Given the description of an element on the screen output the (x, y) to click on. 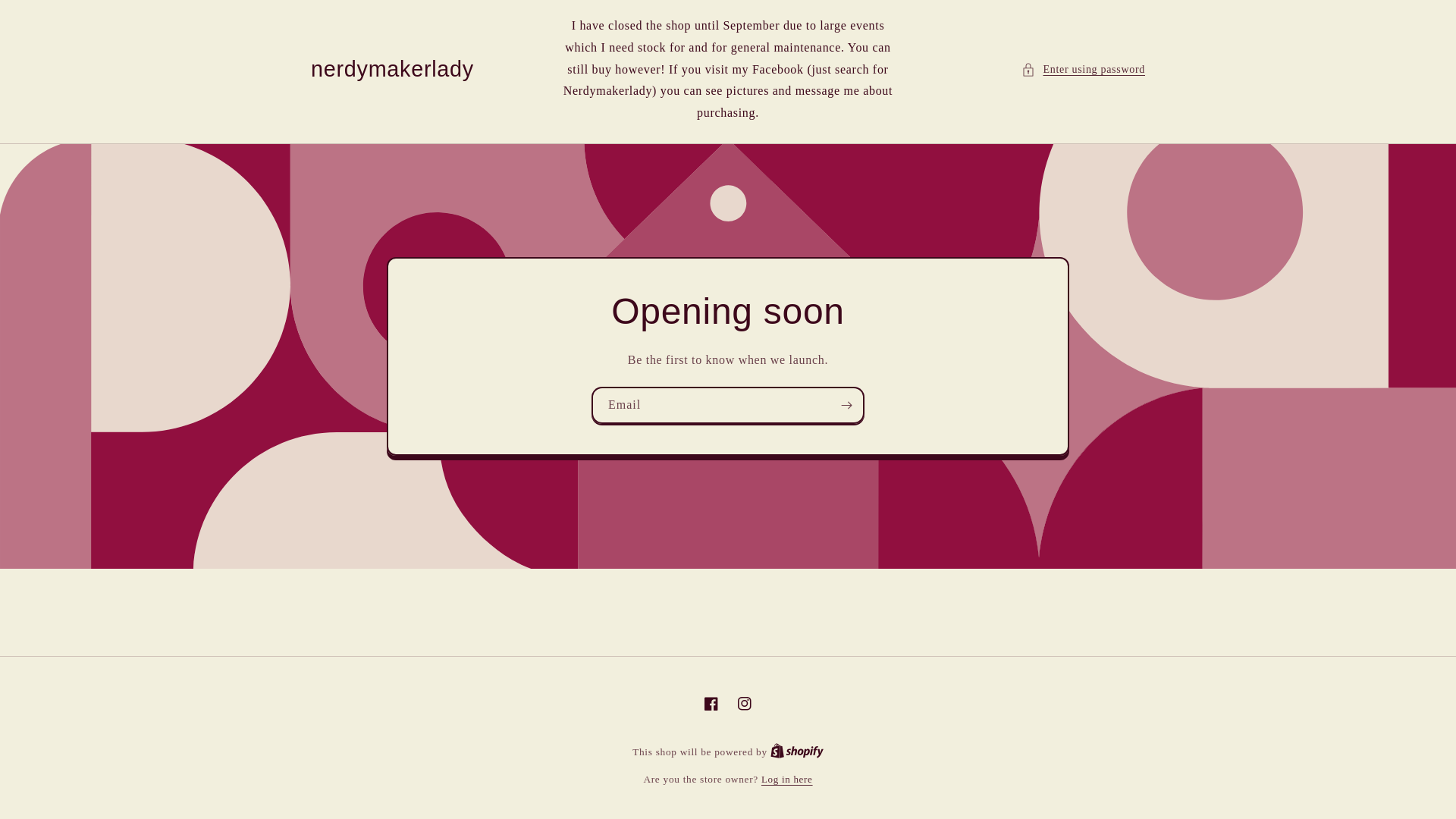
Log in here (797, 751)
Facebook (786, 779)
Create your own online store with Shopify (711, 703)
Skip to content (797, 751)
Shopify logo (46, 18)
Instagram (797, 750)
